Given the description of an element on the screen output the (x, y) to click on. 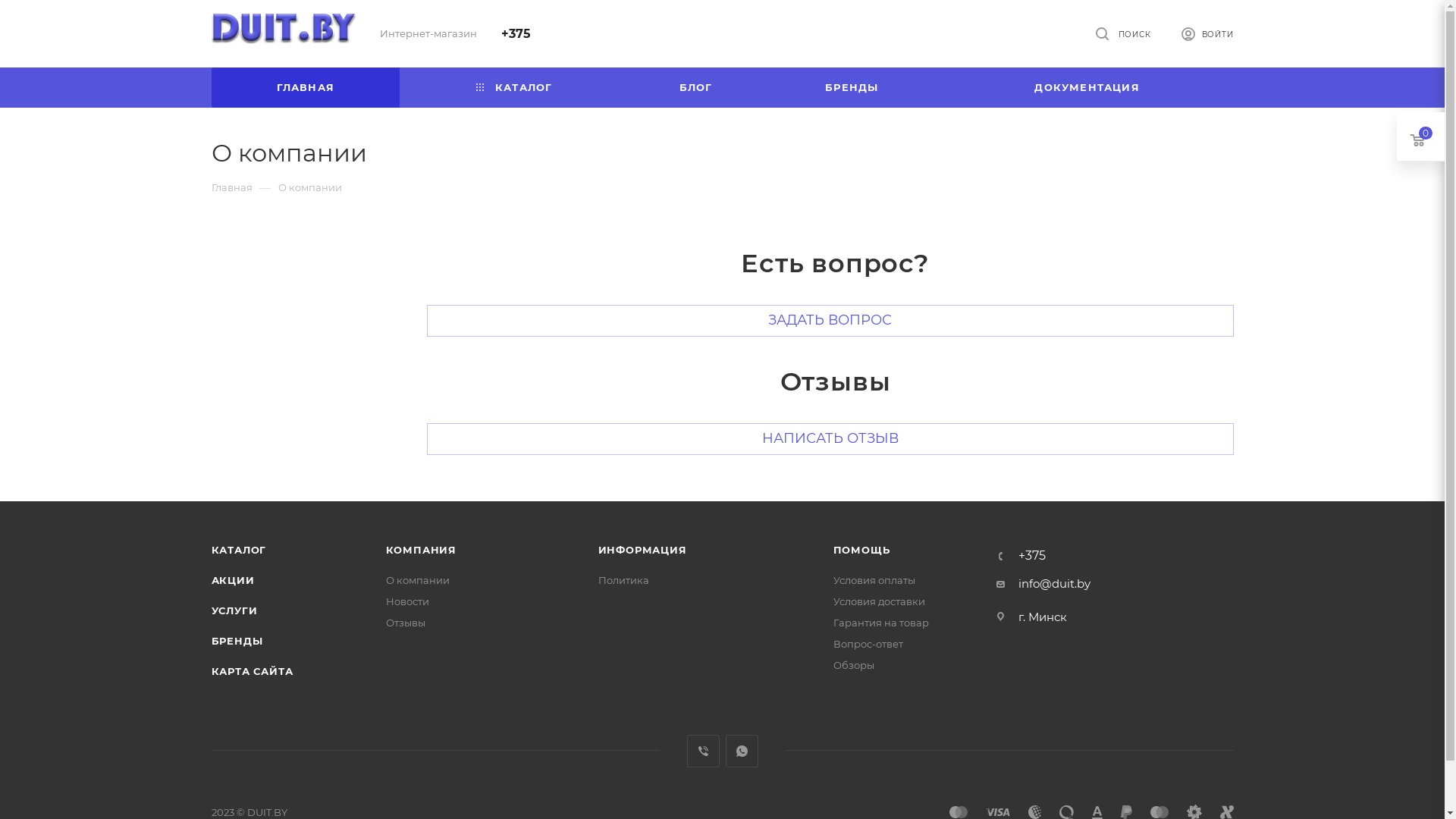
info@duit.by Element type: text (1053, 583)
+375 Element type: text (515, 33)
Visa Element type: hover (997, 811)
MasterCard Element type: hover (958, 812)
+375 Element type: text (1030, 555)
Maestro Element type: hover (1158, 812)
Viber Element type: text (703, 750)
WhatsApp Element type: text (740, 750)
